Given the description of an element on the screen output the (x, y) to click on. 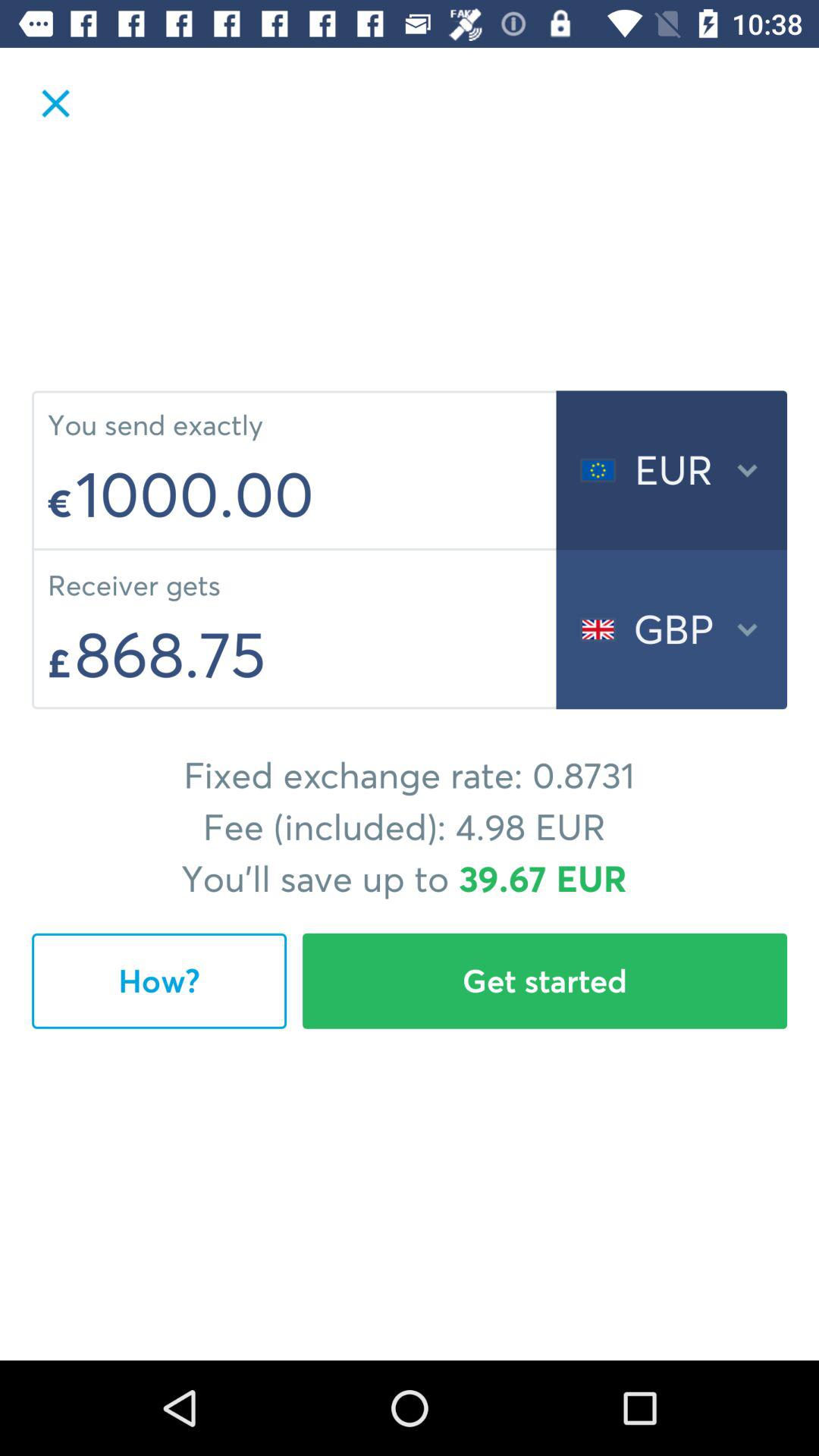
turn off 1000.00 (311, 493)
